Given the description of an element on the screen output the (x, y) to click on. 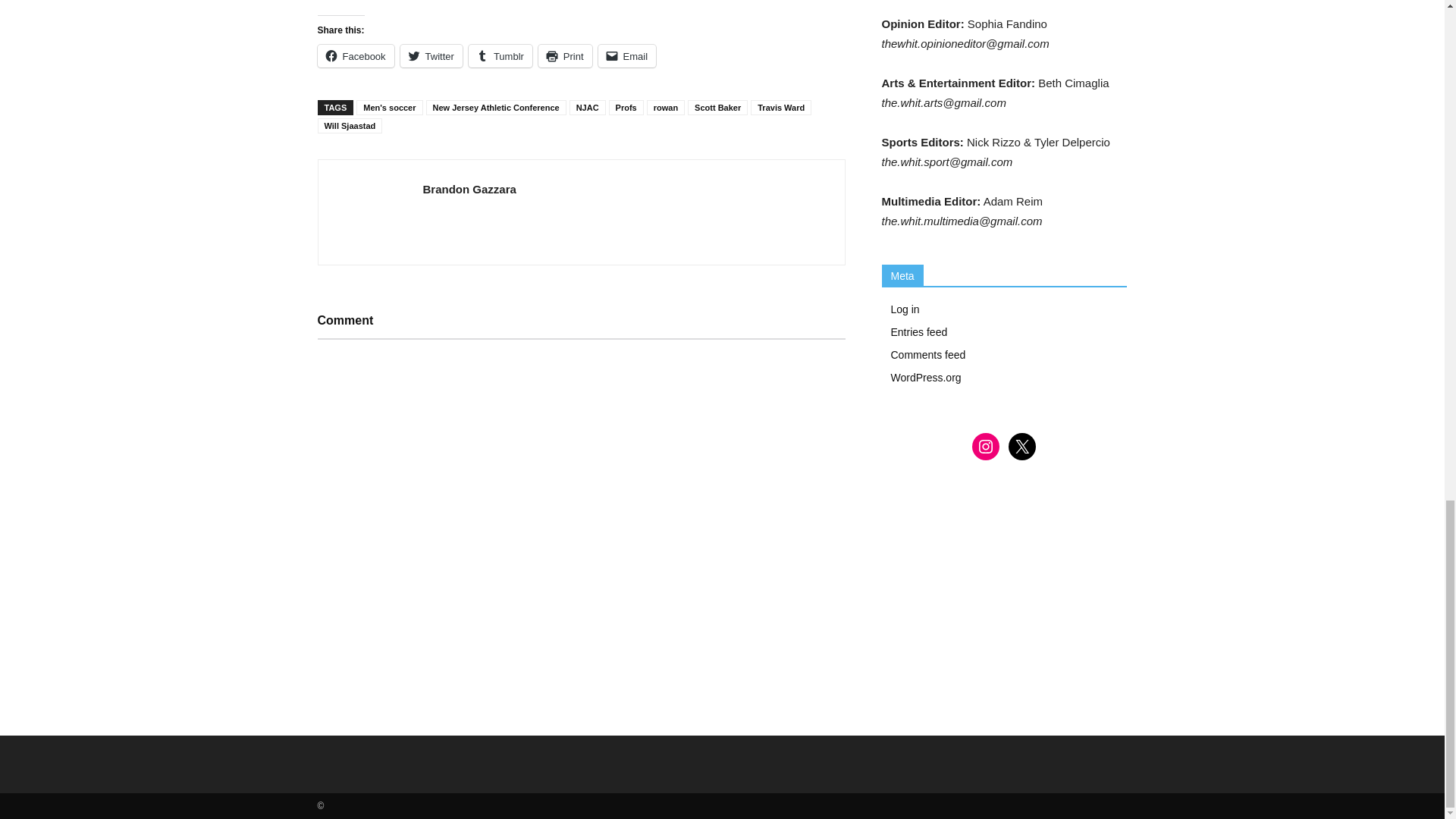
Click to share on Facebook (355, 56)
Click to share on Tumblr (500, 56)
Click to share on Twitter (431, 56)
